Given the description of an element on the screen output the (x, y) to click on. 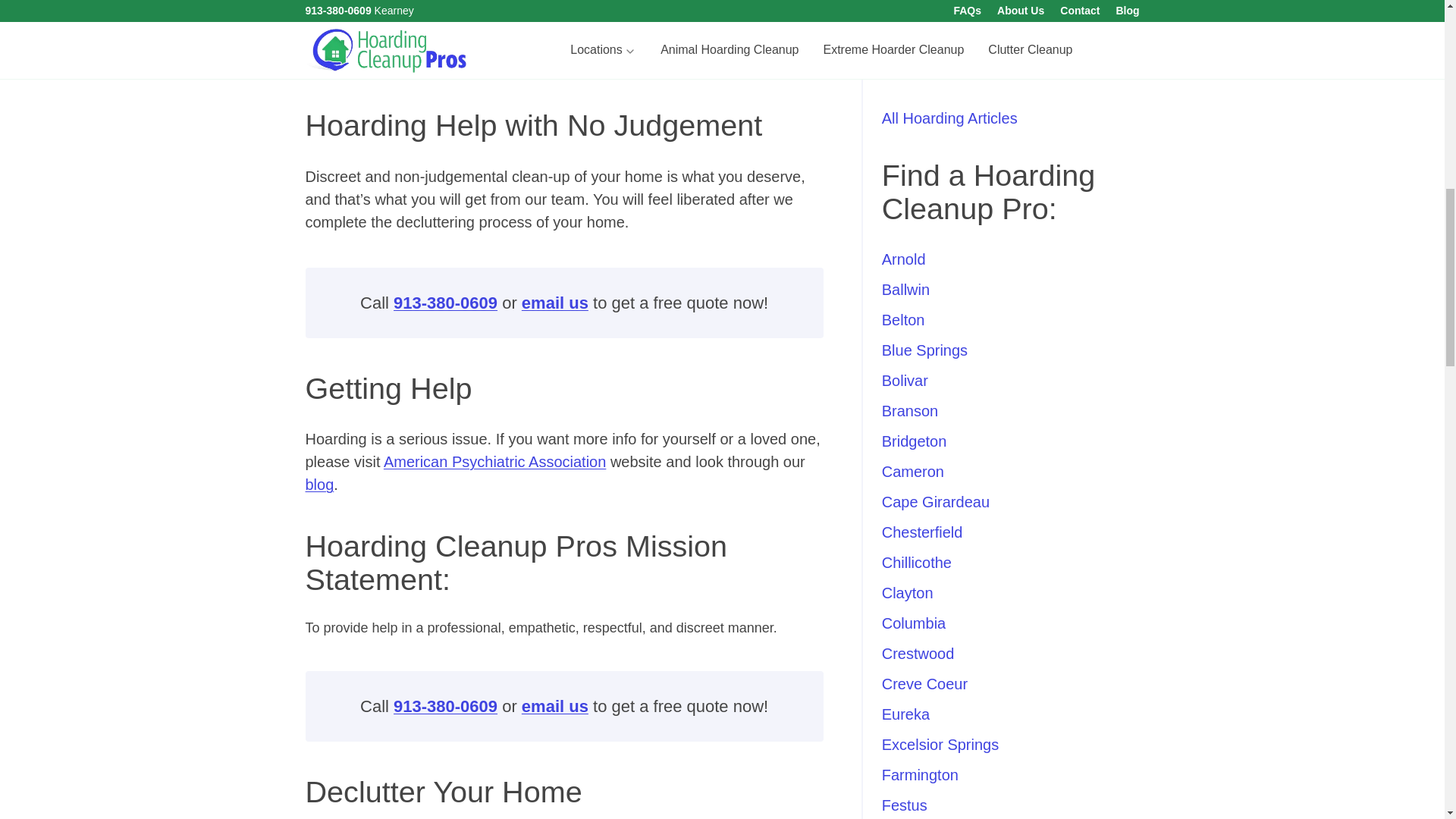
913-380-0609 (445, 705)
American Psychiatric Association (494, 461)
blog (318, 484)
email us (554, 302)
913-380-0609 (445, 302)
